Given the description of an element on the screen output the (x, y) to click on. 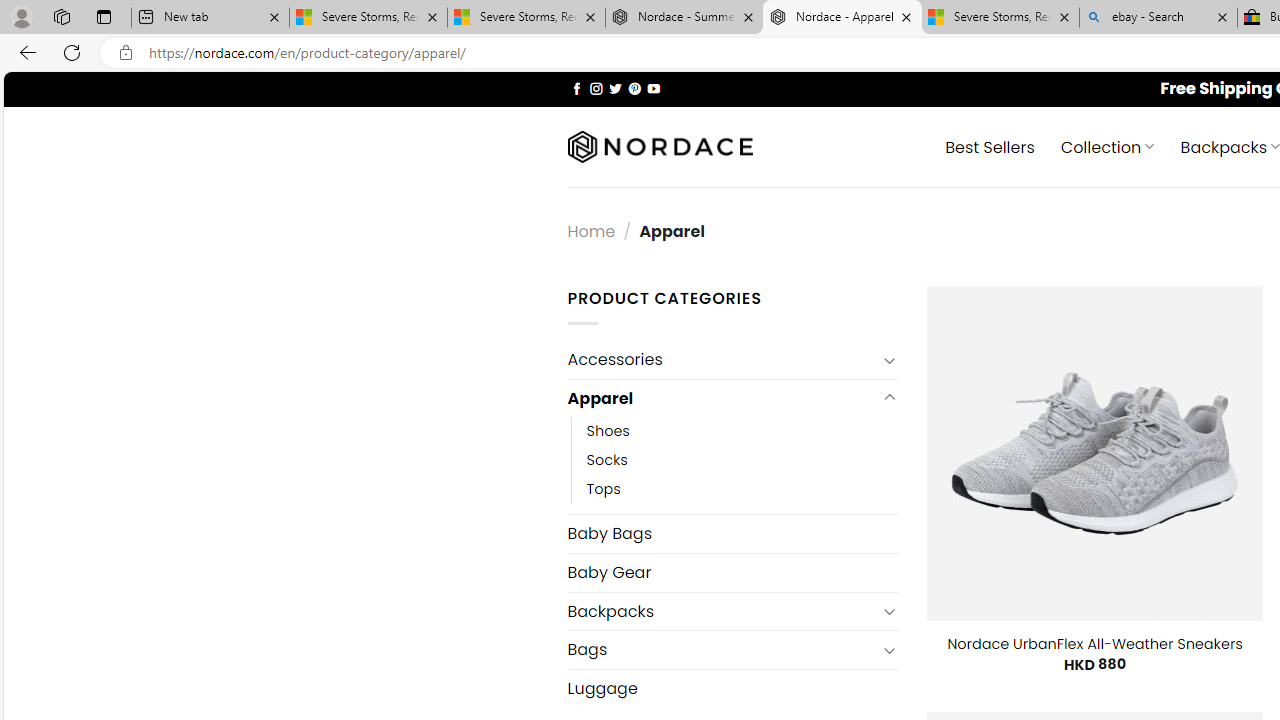
Follow on Pinterest (634, 88)
Socks (607, 460)
Baby Gear (732, 571)
Tops (603, 489)
Baby Gear (732, 571)
Home (591, 230)
Bags (721, 649)
ebay - Search (1158, 17)
